Given the description of an element on the screen output the (x, y) to click on. 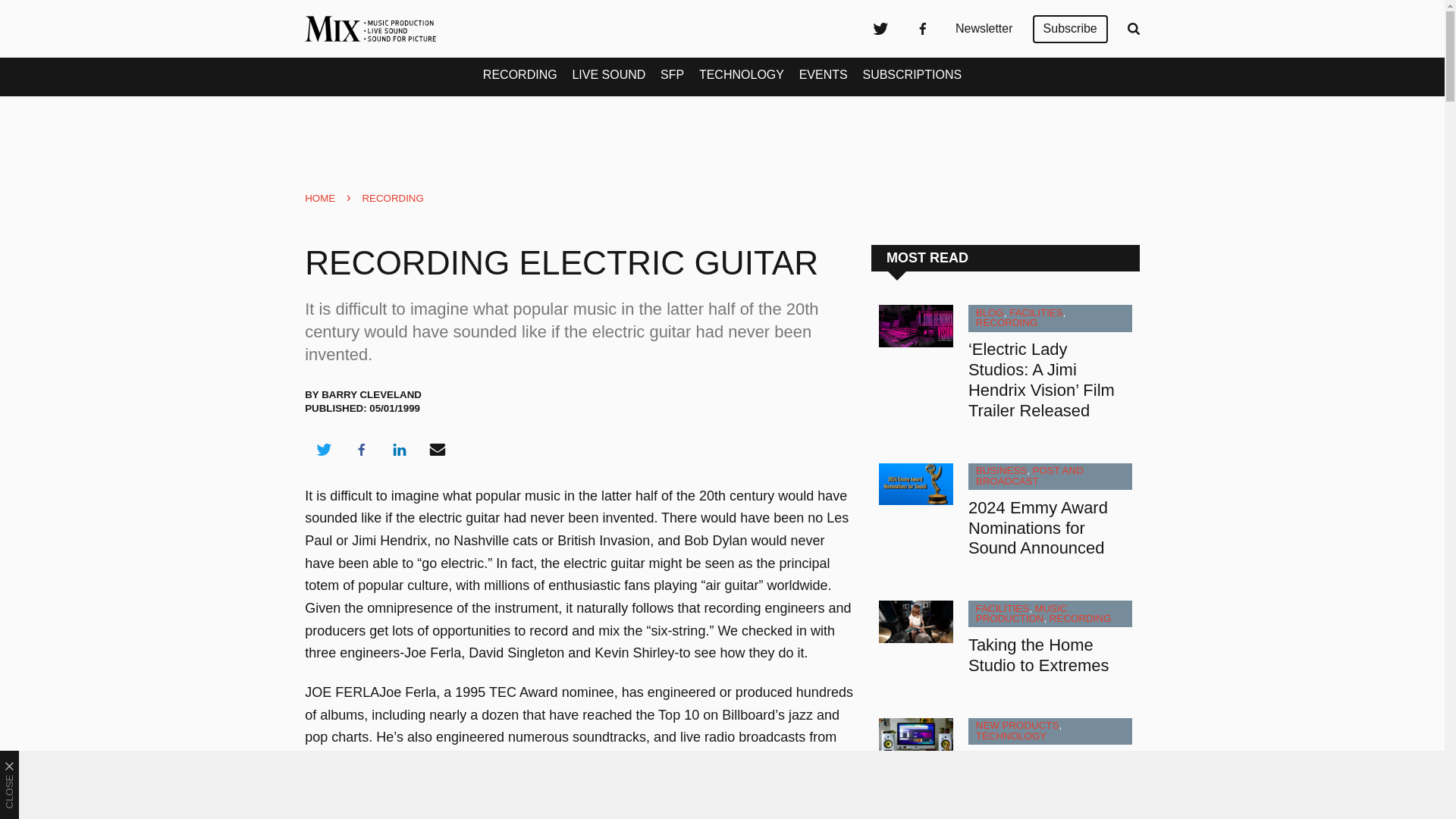
Share on LinkedIn (399, 449)
Share on Facebook (361, 449)
Share via Email (438, 449)
Share on Twitter (323, 449)
